Given the description of an element on the screen output the (x, y) to click on. 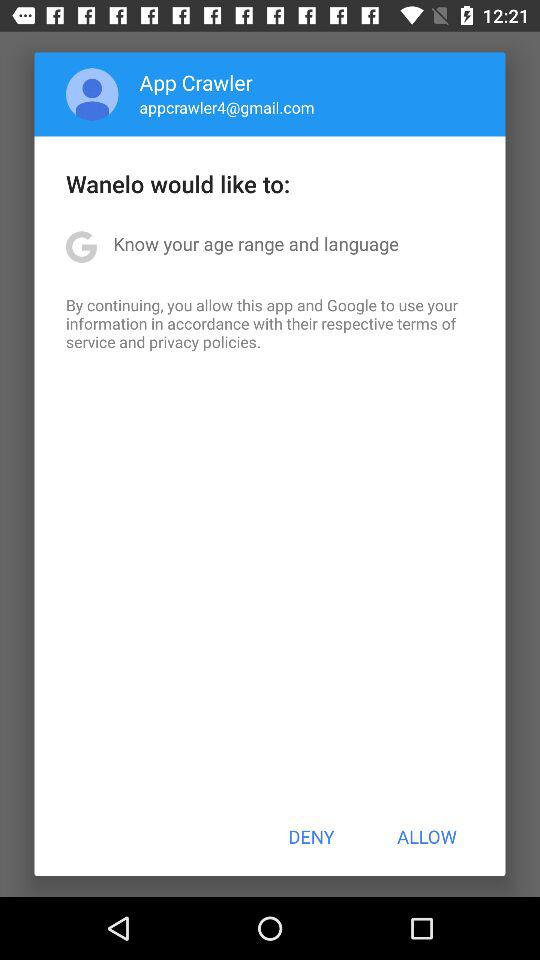
scroll until know your age app (255, 243)
